Given the description of an element on the screen output the (x, y) to click on. 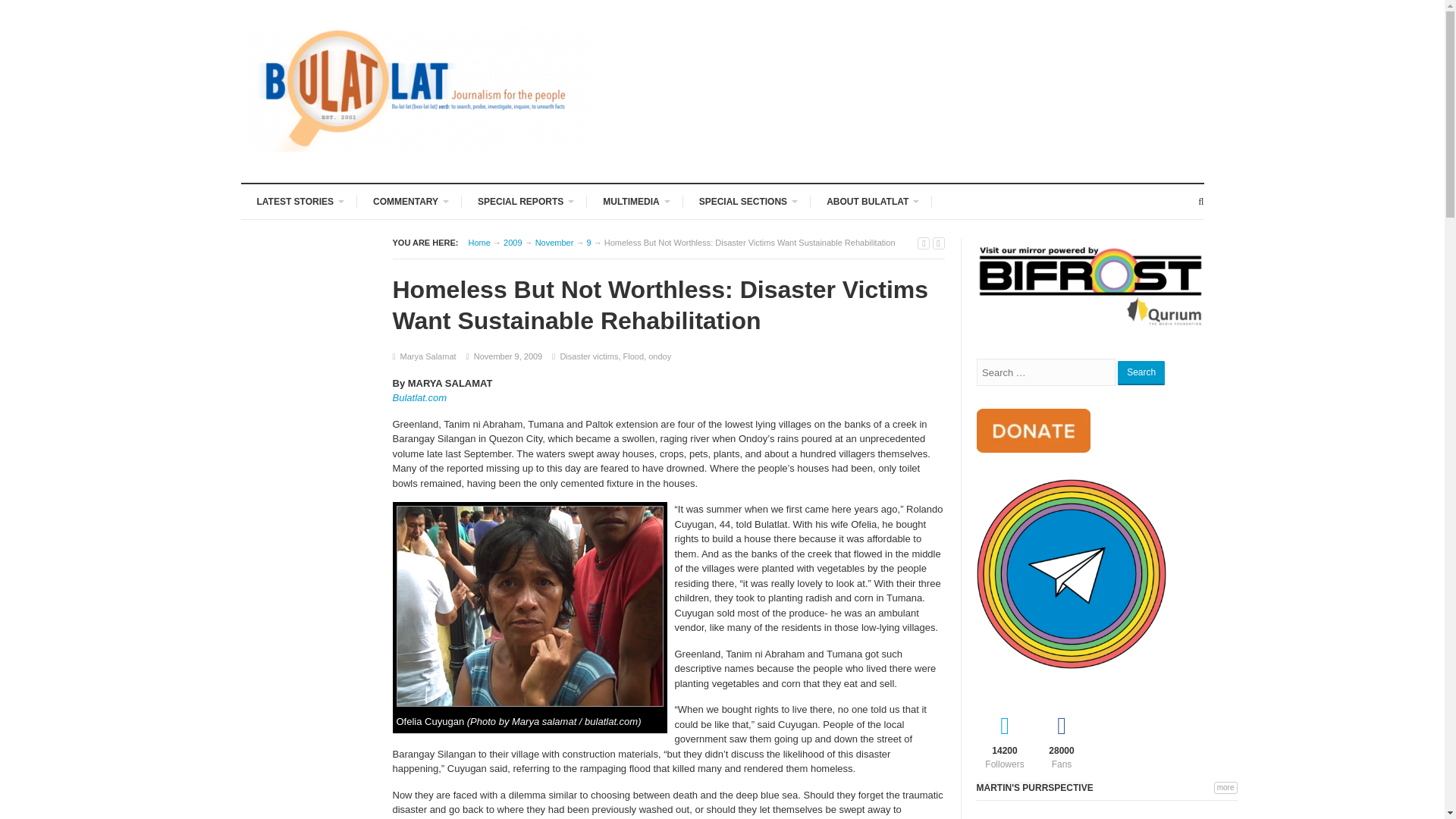
SPECIAL REPORTS (523, 200)
COMMENTARY (409, 200)
Monday, November 9, 2009, 2:07 pm (508, 356)
Twitter (1004, 739)
Facebook (1060, 739)
Bulatlat (479, 242)
MULTIMEDIA (634, 200)
LATEST STORIES (299, 200)
SPECIAL SECTIONS (746, 200)
